Given the description of an element on the screen output the (x, y) to click on. 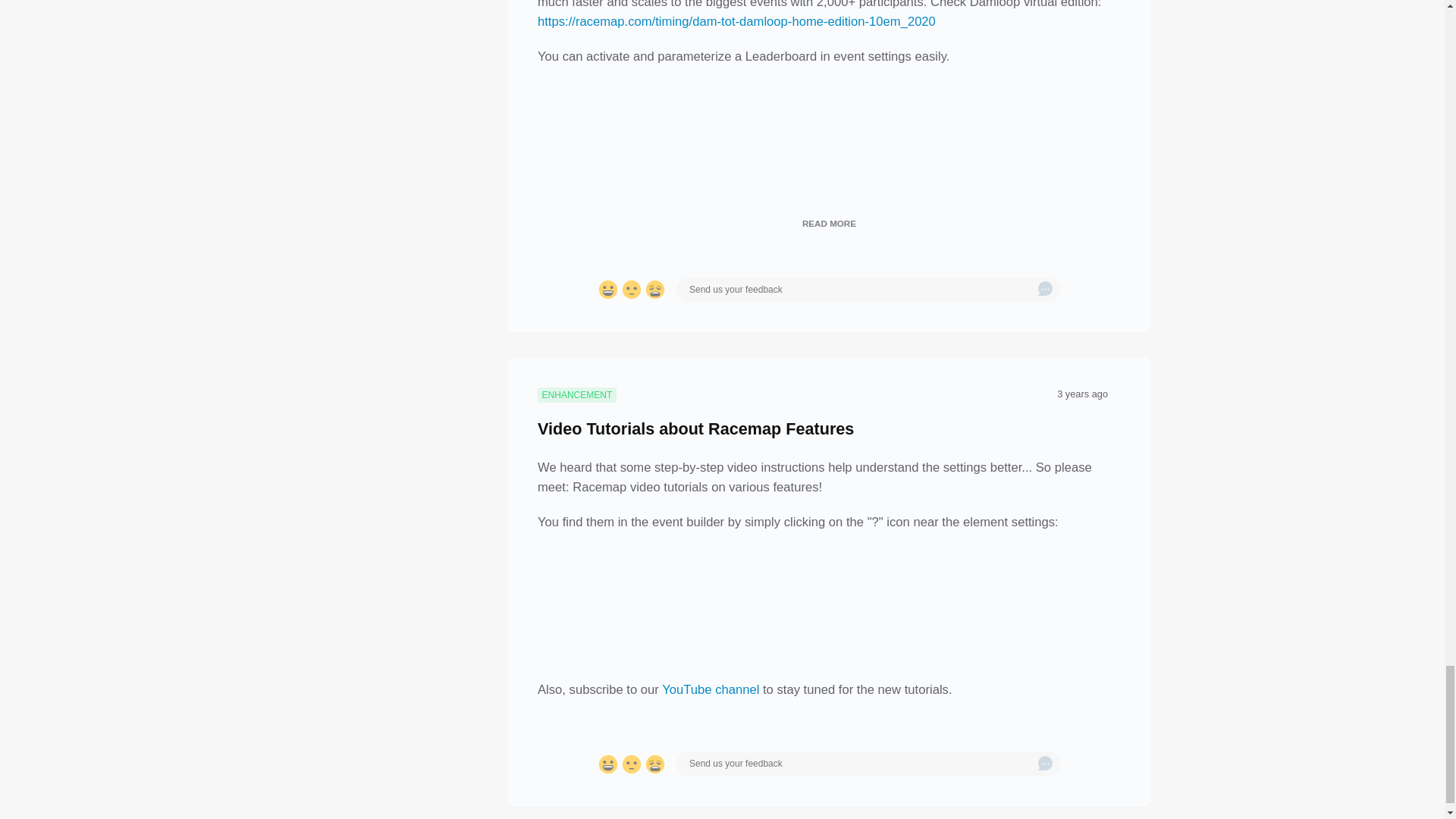
Submit Button (1044, 764)
Submit Button (1044, 289)
